Given the description of an element on the screen output the (x, y) to click on. 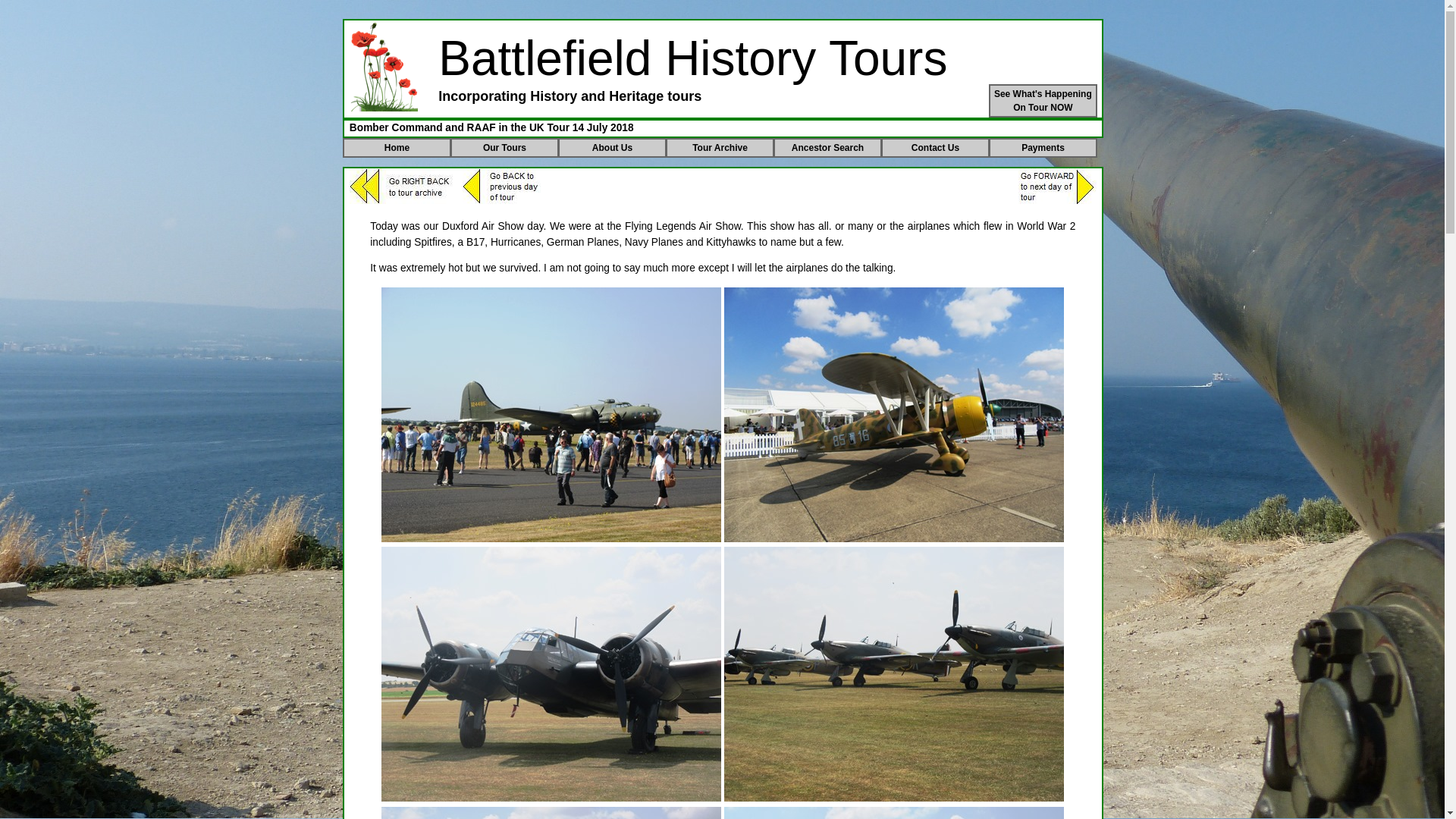
Right Back to Tour Archive (401, 185)
RAAF in the UK Tour 2018 (1042, 100)
RAAF in the UK Tour 2018 (550, 414)
Payments (550, 812)
RAAF in the UK Tour 2018 (1042, 148)
Tour Archive (893, 674)
Contact Us (719, 148)
RAAF in the UK Tour 2018 (935, 148)
Ancestor Search (893, 812)
